Given the description of an element on the screen output the (x, y) to click on. 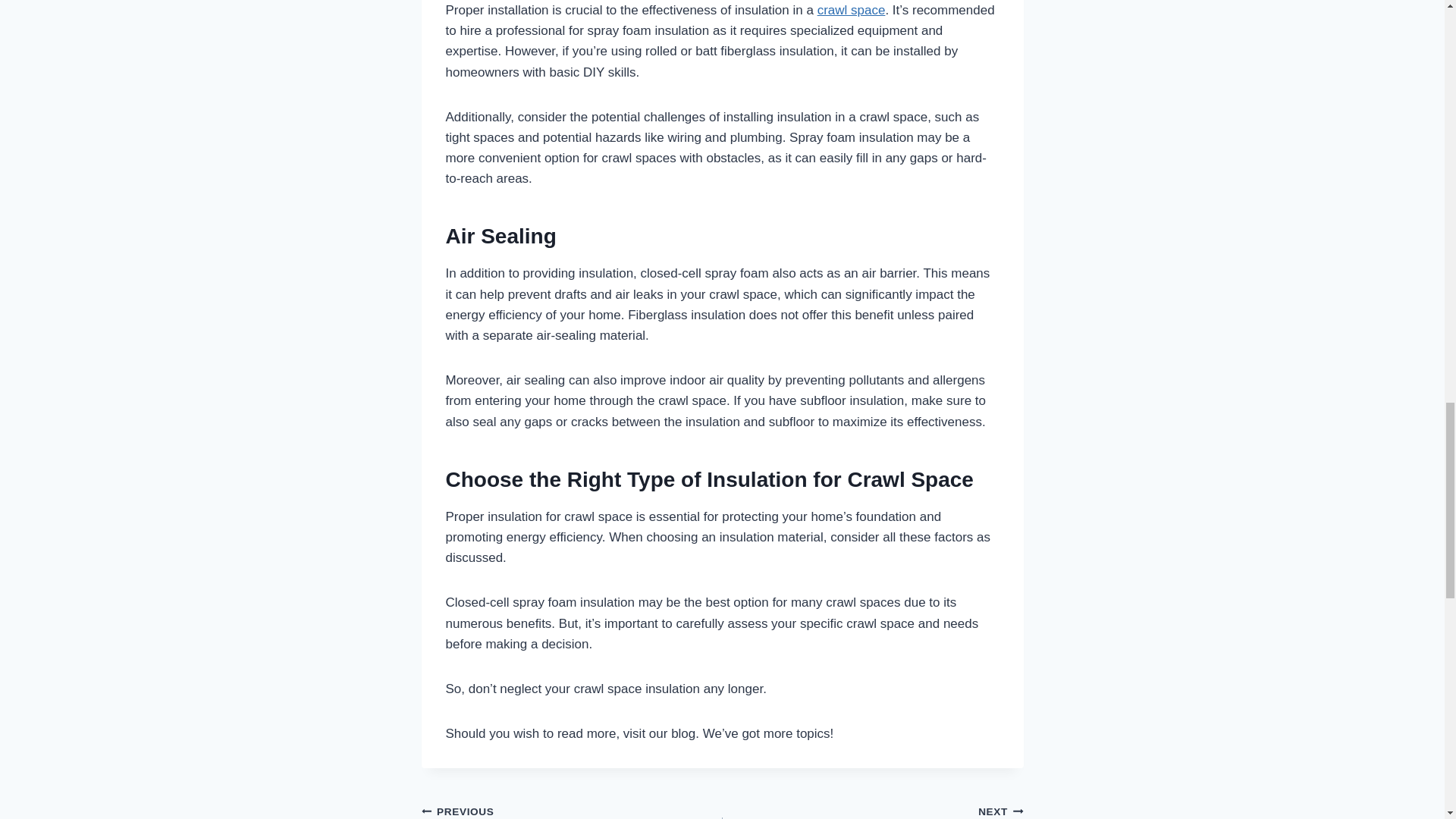
crawl space (850, 10)
